Given the description of an element on the screen output the (x, y) to click on. 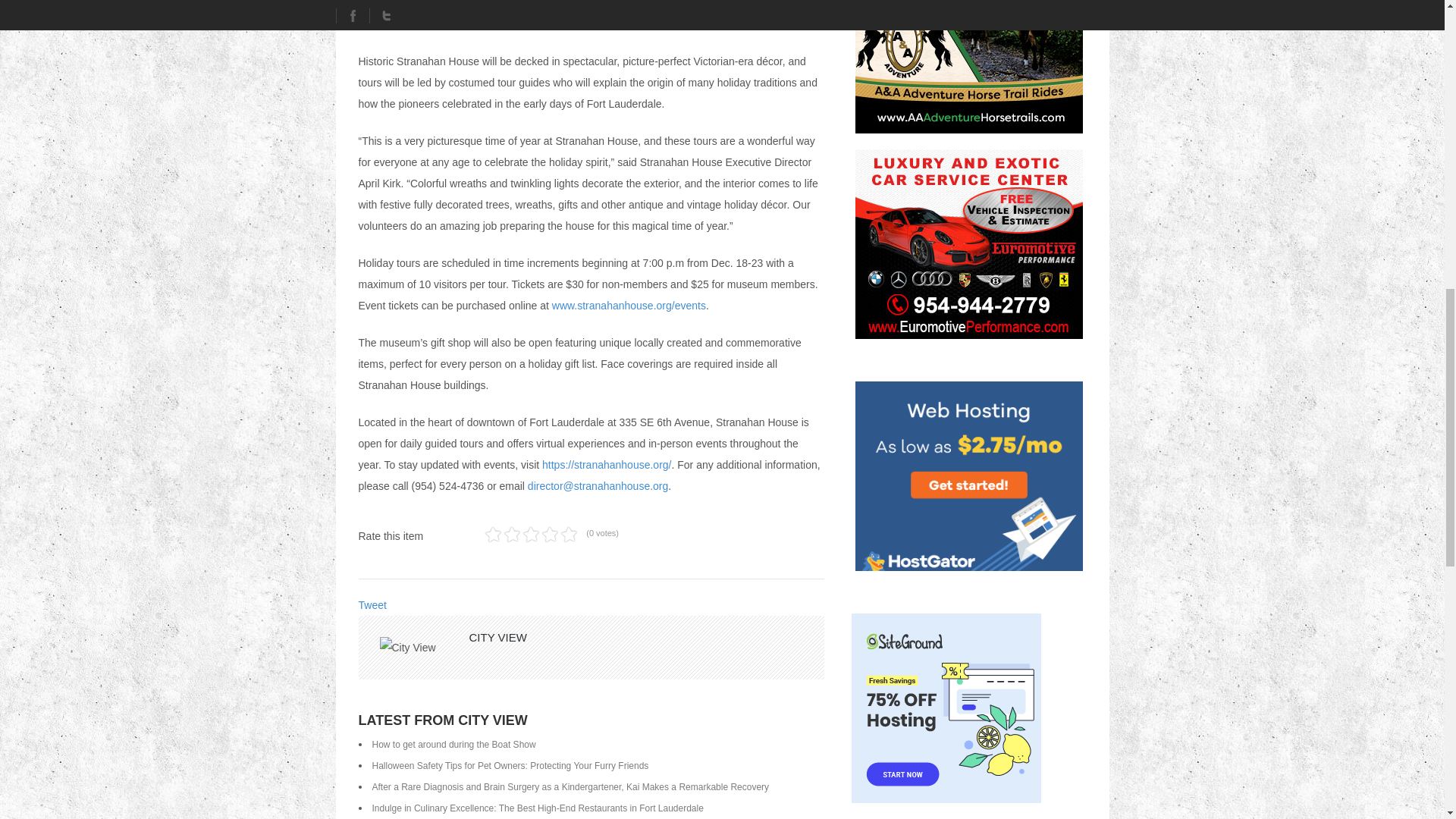
2 stars out of 5 (502, 534)
1 star out of 5 (492, 534)
2 (502, 534)
3 stars out of 5 (511, 534)
1 (492, 534)
4 stars out of 5 (521, 534)
5 stars out of 5 (530, 534)
